Given the description of an element on the screen output the (x, y) to click on. 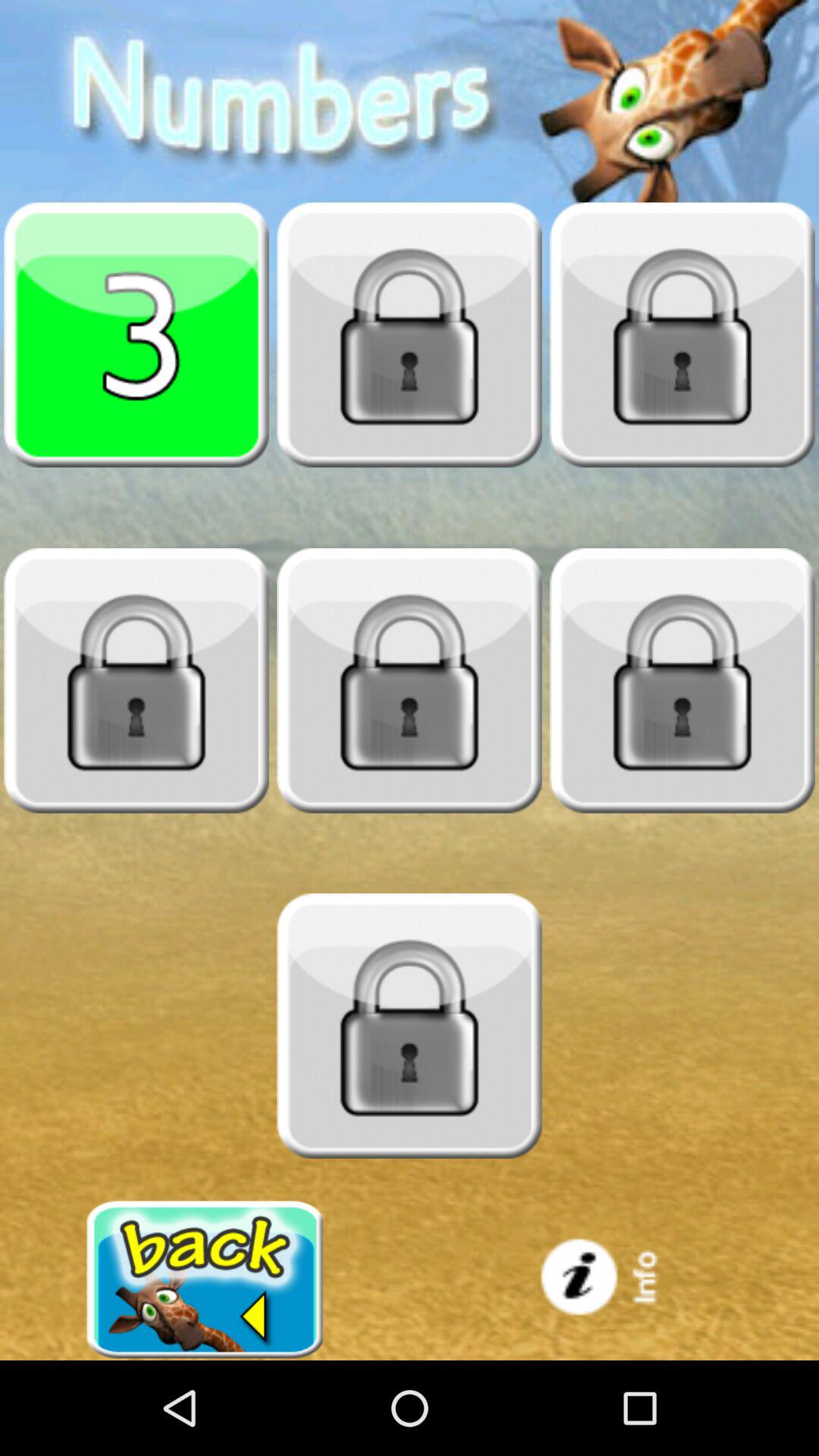
go back a page (204, 1279)
